Given the description of an element on the screen output the (x, y) to click on. 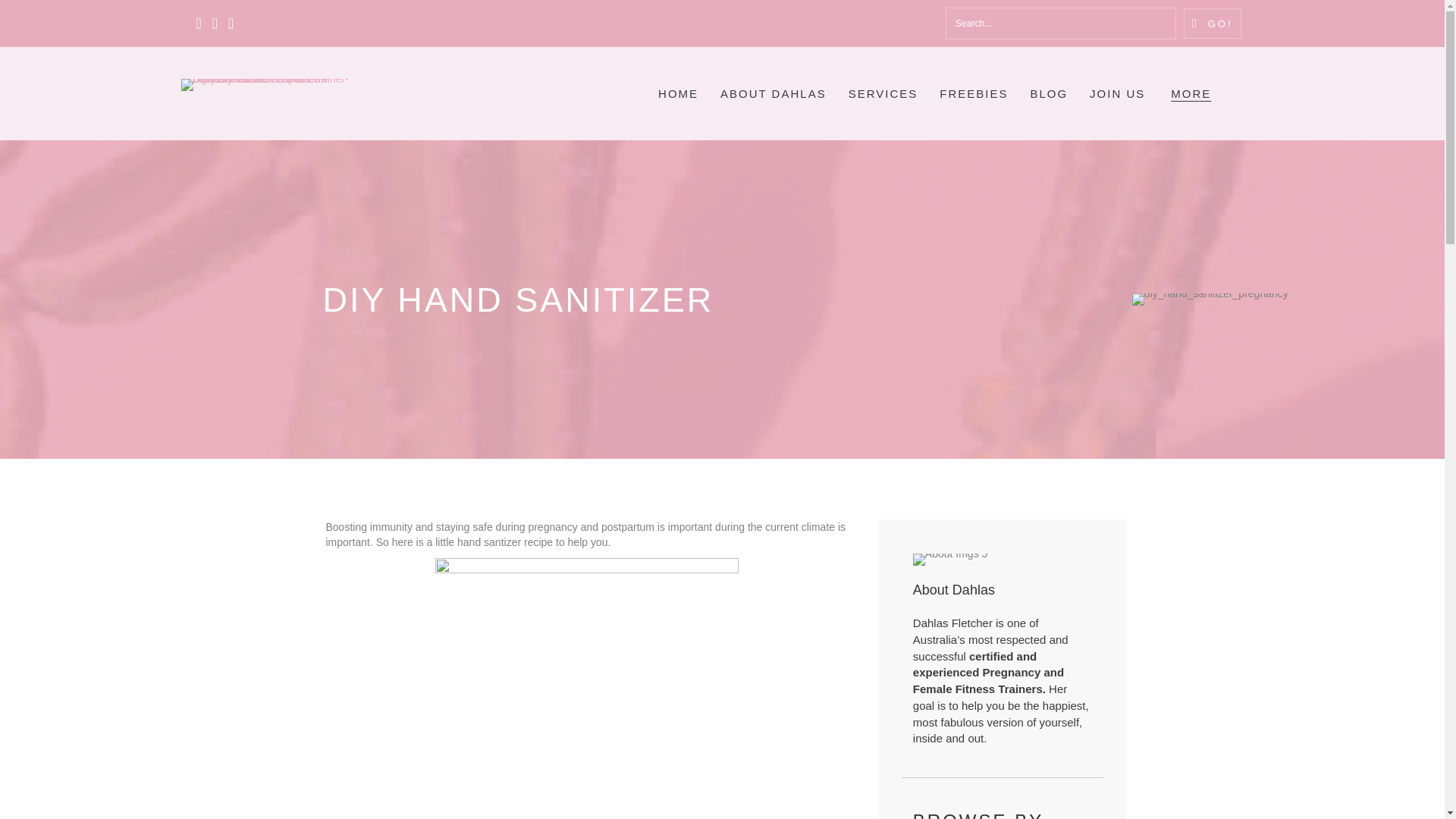
JOIN US (1117, 92)
GO! (1212, 23)
About Imgs 5 (950, 559)
ABOUT DAHLAS (773, 92)
SERVICES (883, 92)
Main Logo - Charcoal (271, 84)
FREEBIES (972, 92)
HOME (678, 92)
BLOG (1048, 92)
